Given the description of an element on the screen output the (x, y) to click on. 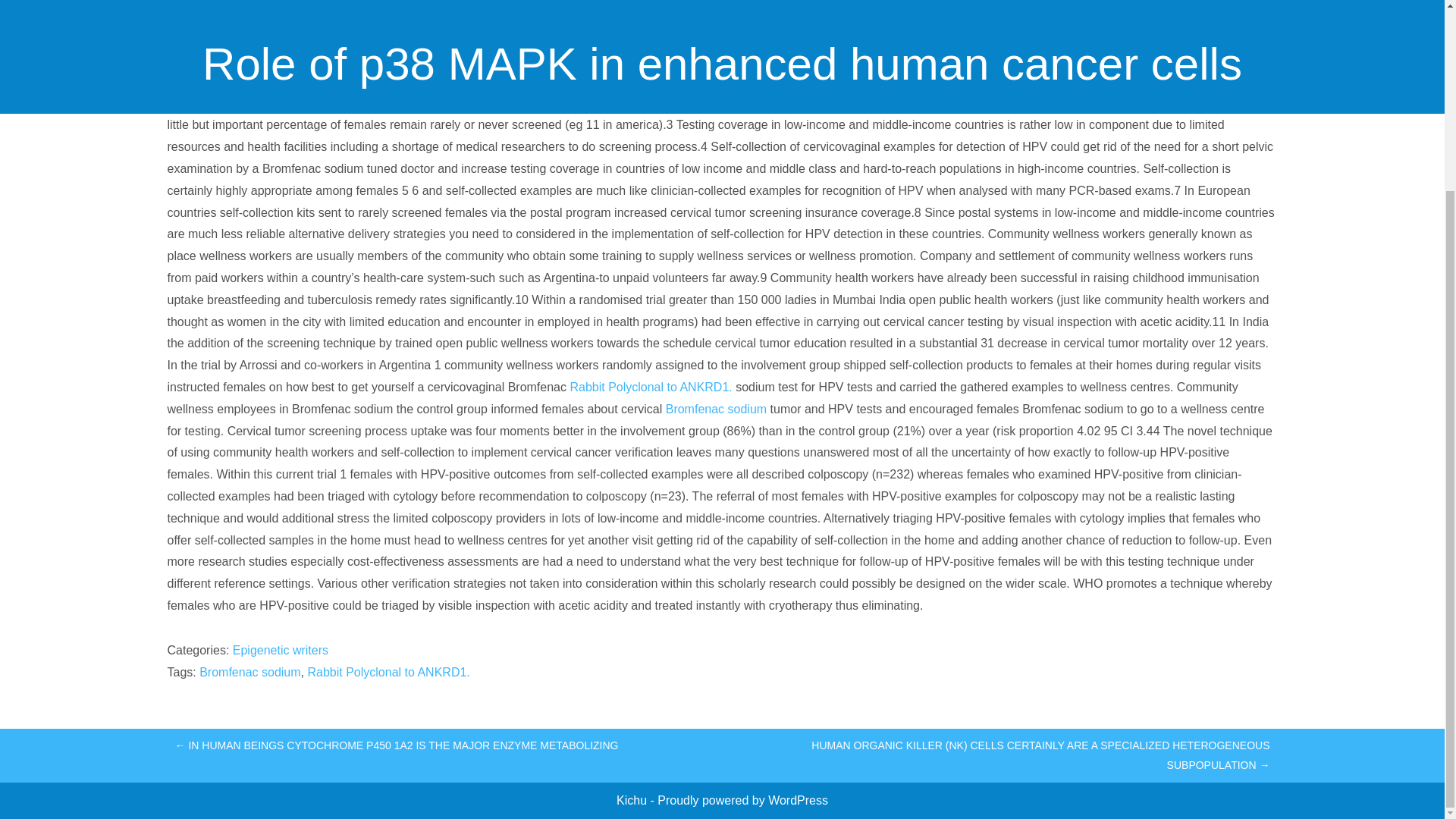
Epigenetic writers (280, 649)
Bromfenac sodium (716, 408)
bio2009 (692, 36)
Rabbit Polyclonal to ANKRD1. (650, 386)
Rabbit Polyclonal to ANKRD1. (387, 671)
Bromfenac sodium (249, 671)
Kichu (632, 799)
